Given the description of an element on the screen output the (x, y) to click on. 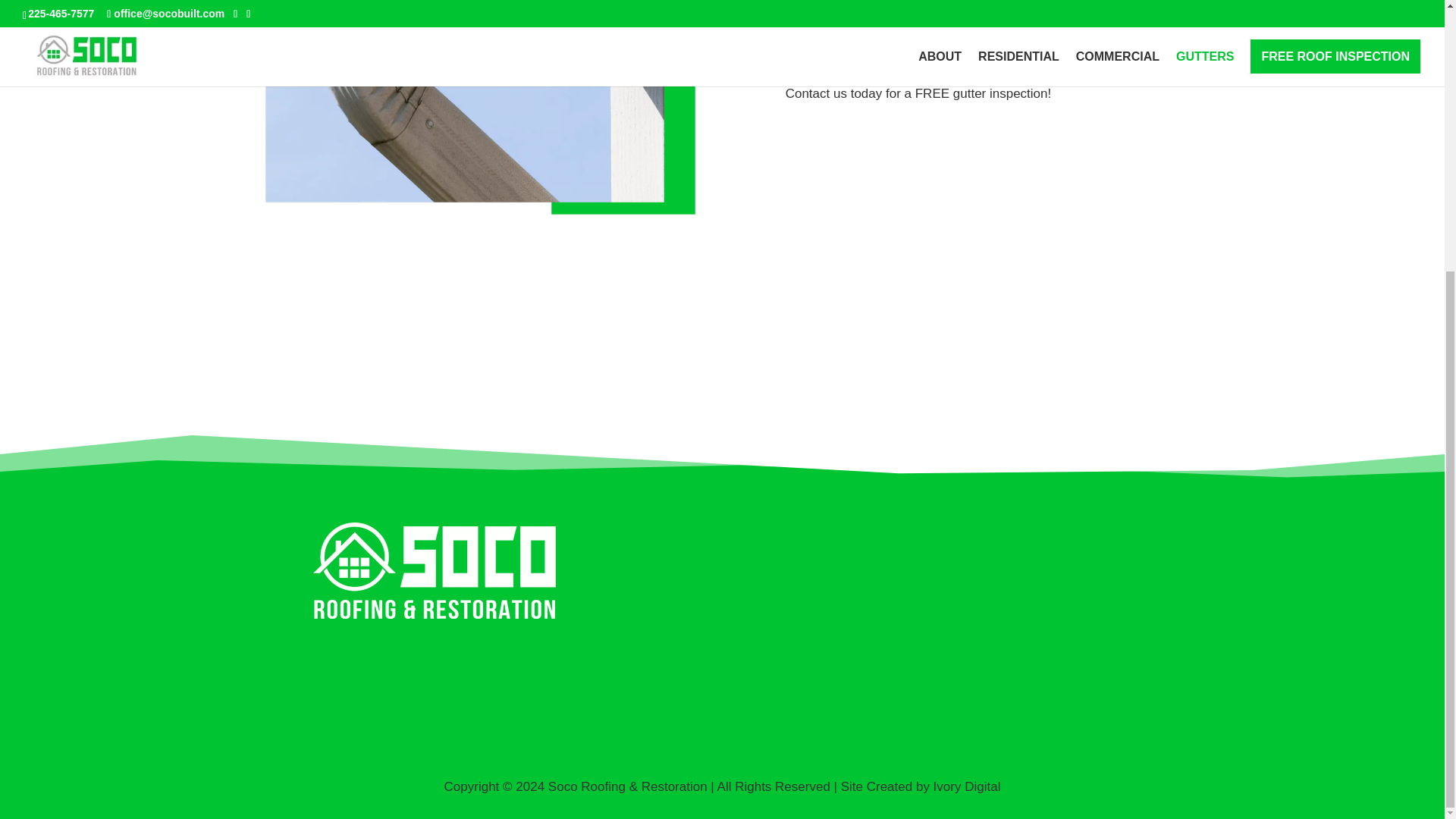
Free Roof Inspection (59, 802)
Ivory Digital (967, 786)
